Given the description of an element on the screen output the (x, y) to click on. 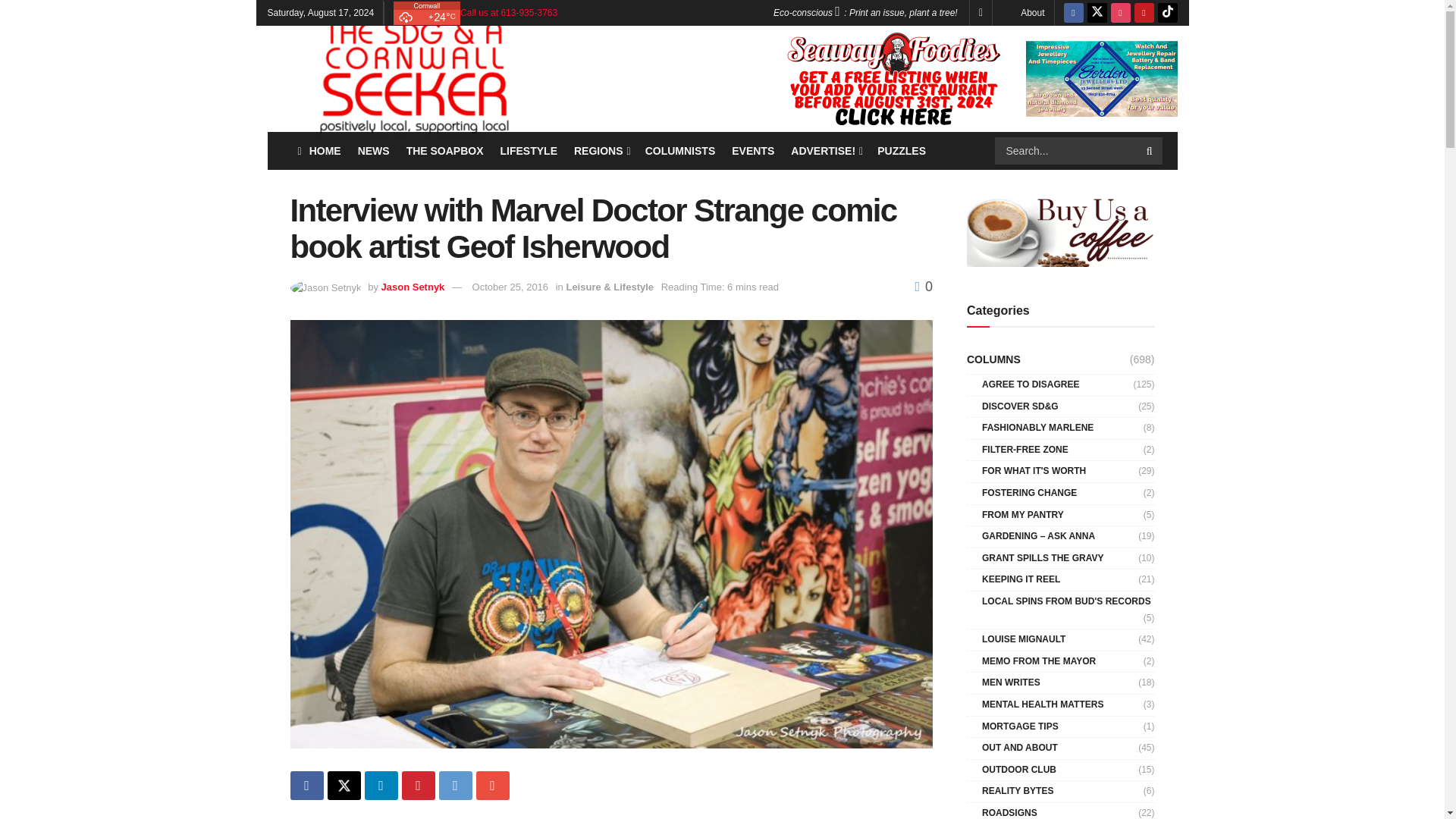
HOME (318, 150)
ADVERTISE! (825, 150)
NEWS (374, 150)
REGIONS (600, 150)
PUZZLES (901, 150)
Call us at 613-935-3763 (508, 12)
About (1031, 12)
THE SOAPBOX (444, 150)
COLUMNISTS (680, 150)
EVENTS (753, 150)
